Given the description of an element on the screen output the (x, y) to click on. 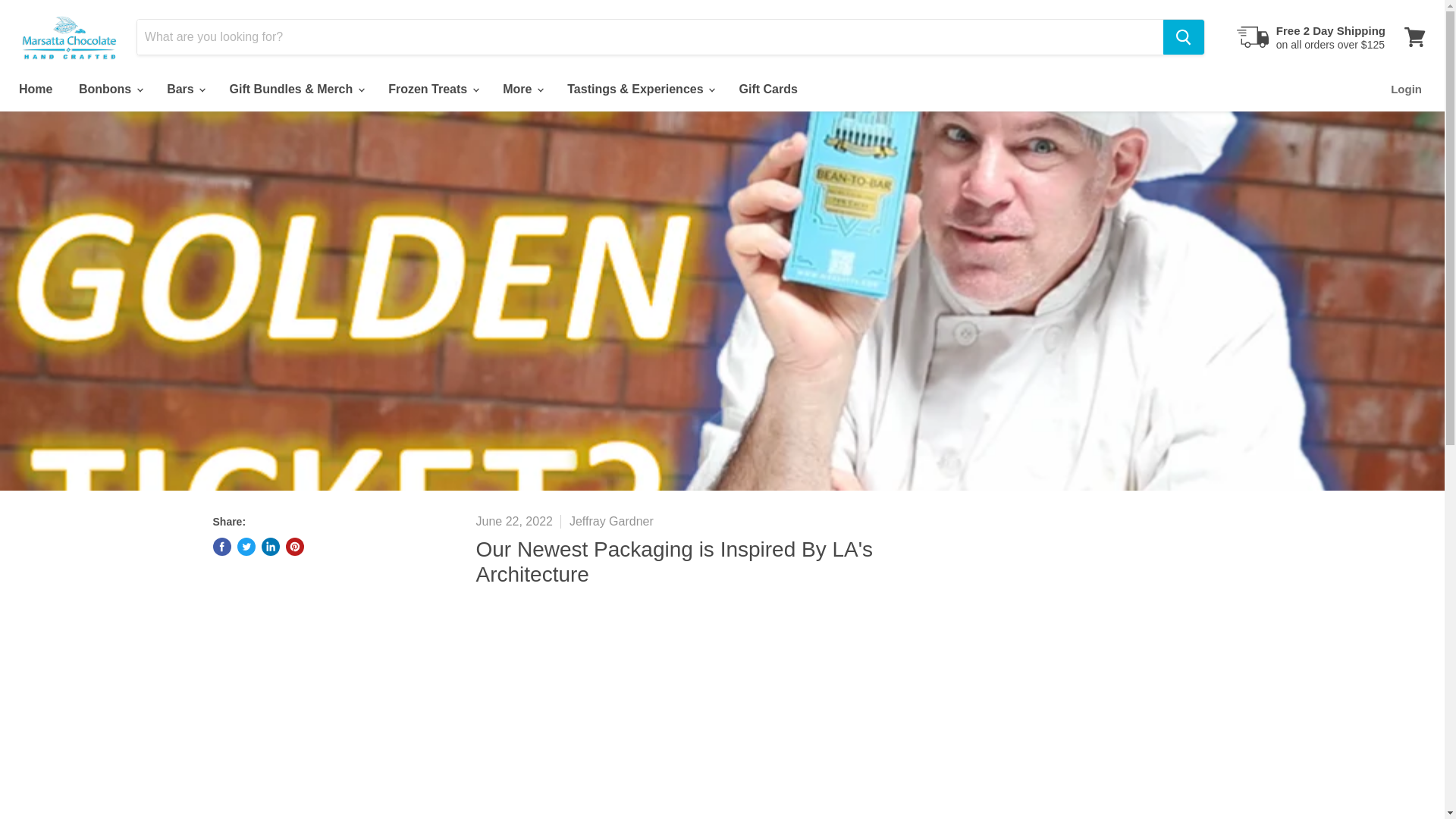
Bars (184, 89)
Bonbons (109, 89)
Home (35, 89)
View cart (1414, 36)
YouTube video player (722, 714)
